Given the description of an element on the screen output the (x, y) to click on. 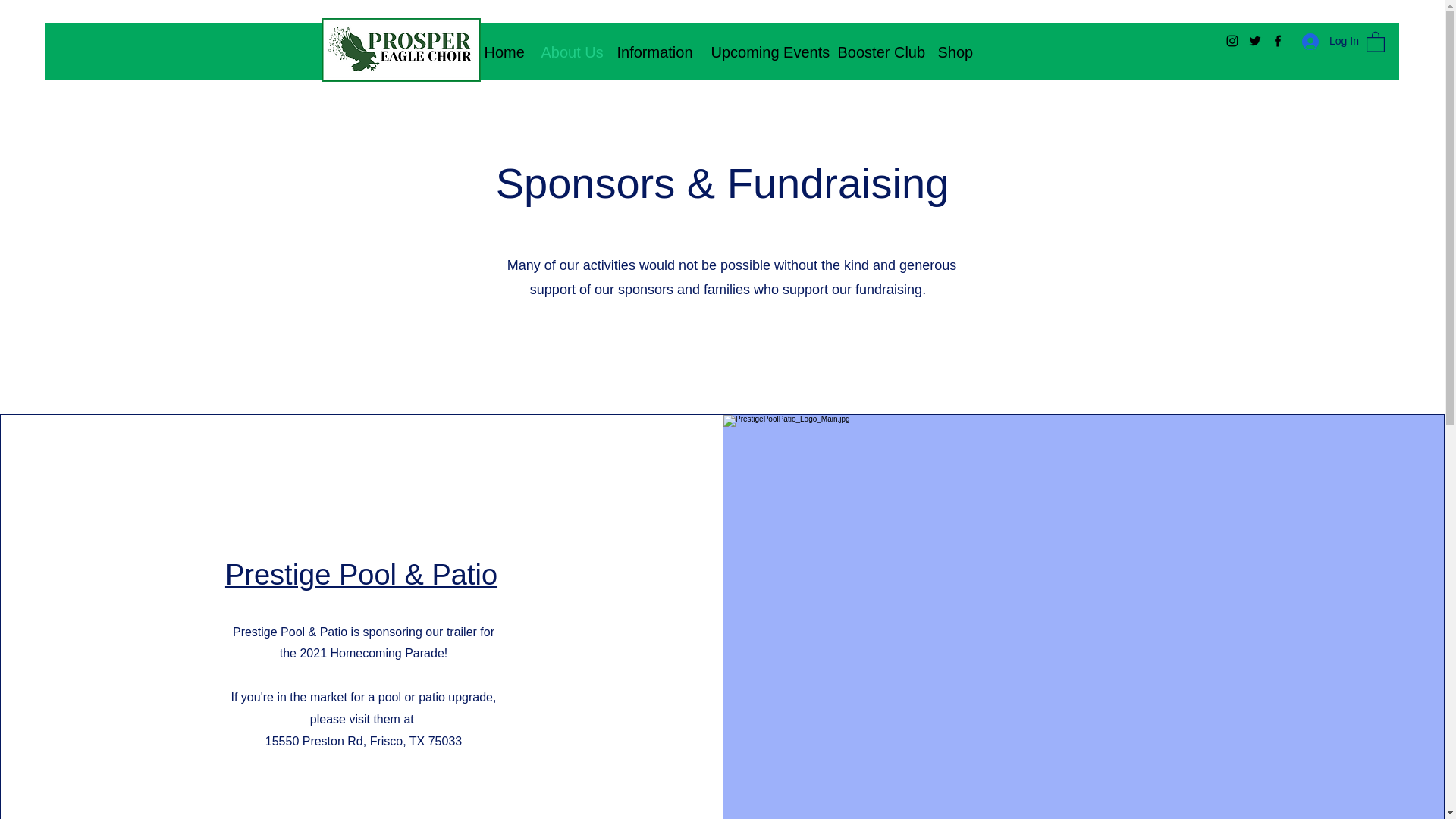
Log In (1325, 41)
Shop (952, 51)
Home (501, 51)
Upcoming Events (761, 51)
About Us (567, 51)
Information (651, 51)
Booster Club (876, 51)
